Given the description of an element on the screen output the (x, y) to click on. 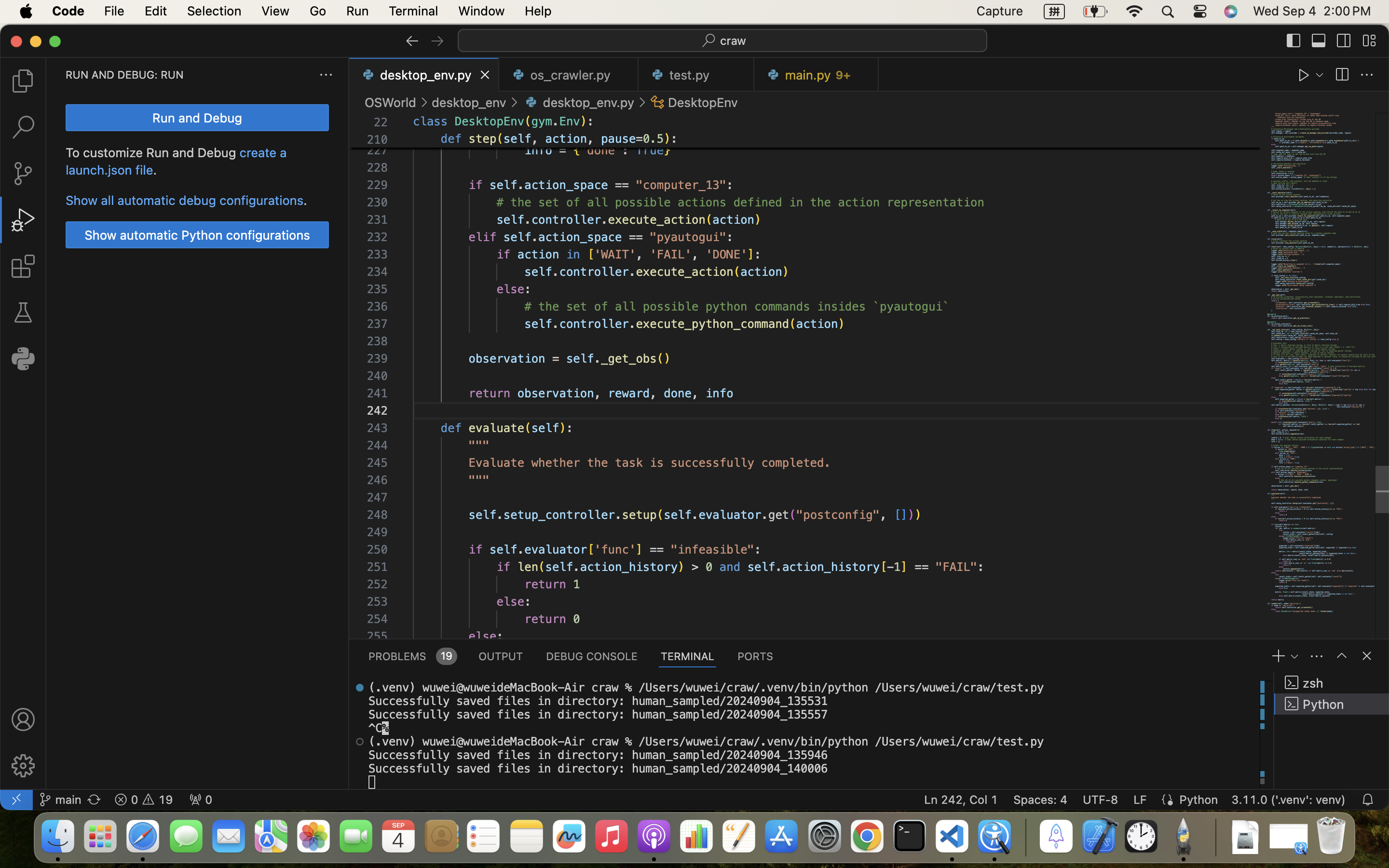
 Element type: AXStaticText (22, 765)
0 DEBUG CONSOLE Element type: AXRadioButton (591, 655)
 Element type: AXButton (1366, 655)
0 Element type: AXRadioButton (23, 358)
step Element type: AXStaticText (482, 138)
